Given the description of an element on the screen output the (x, y) to click on. 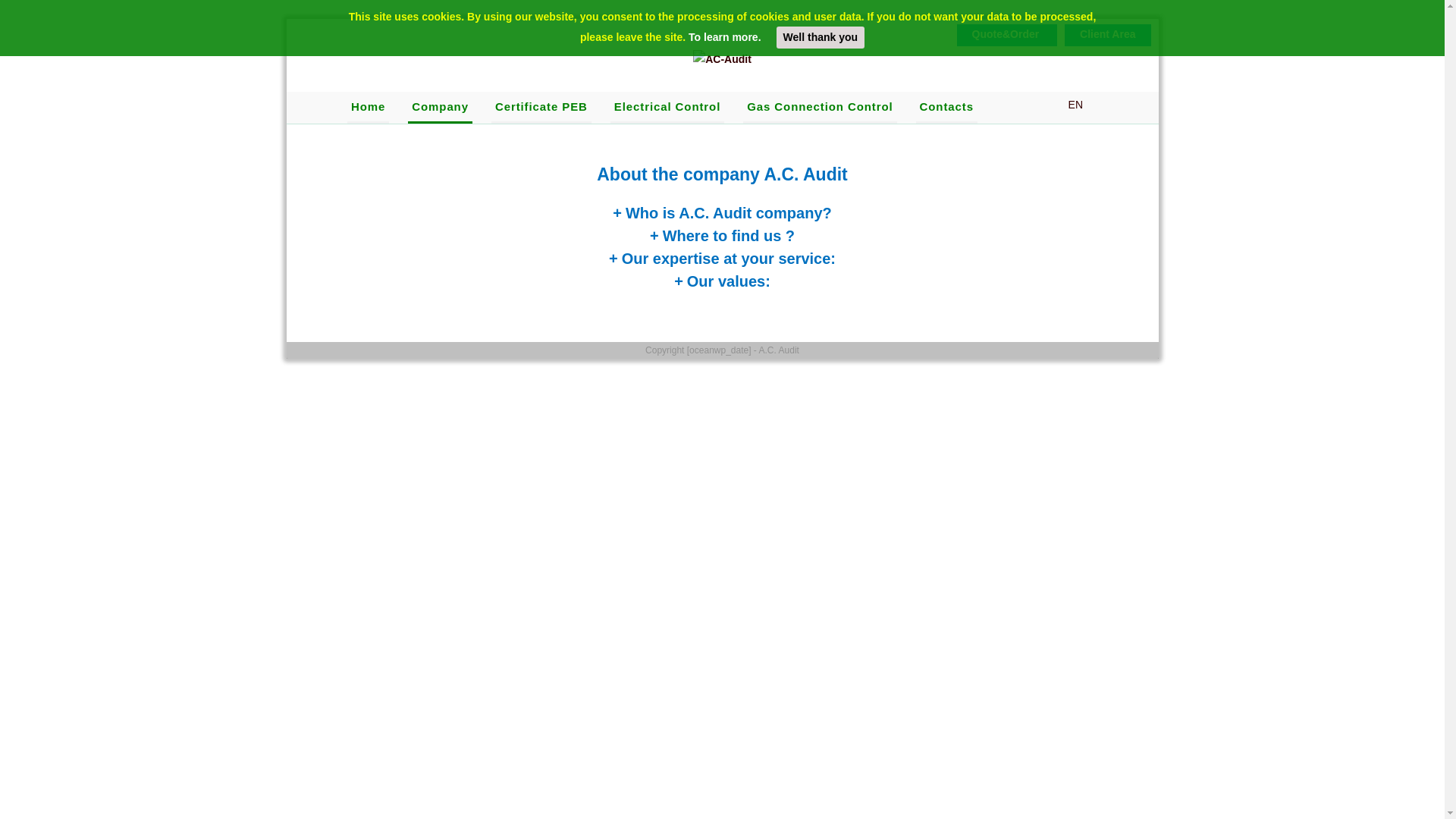
Company Element type: text (439, 107)
Electrical Control Element type: text (667, 107)
Well thank you Element type: text (820, 37)
Quote&Order Element type: text (1011, 34)
Certificate PEB Element type: text (541, 107)
Gas Connection Control Element type: text (819, 107)
To learn more. Element type: text (724, 37)
Contacts Element type: text (946, 107)
EN Element type: text (1066, 104)
Home Element type: text (368, 107)
